Given the description of an element on the screen output the (x, y) to click on. 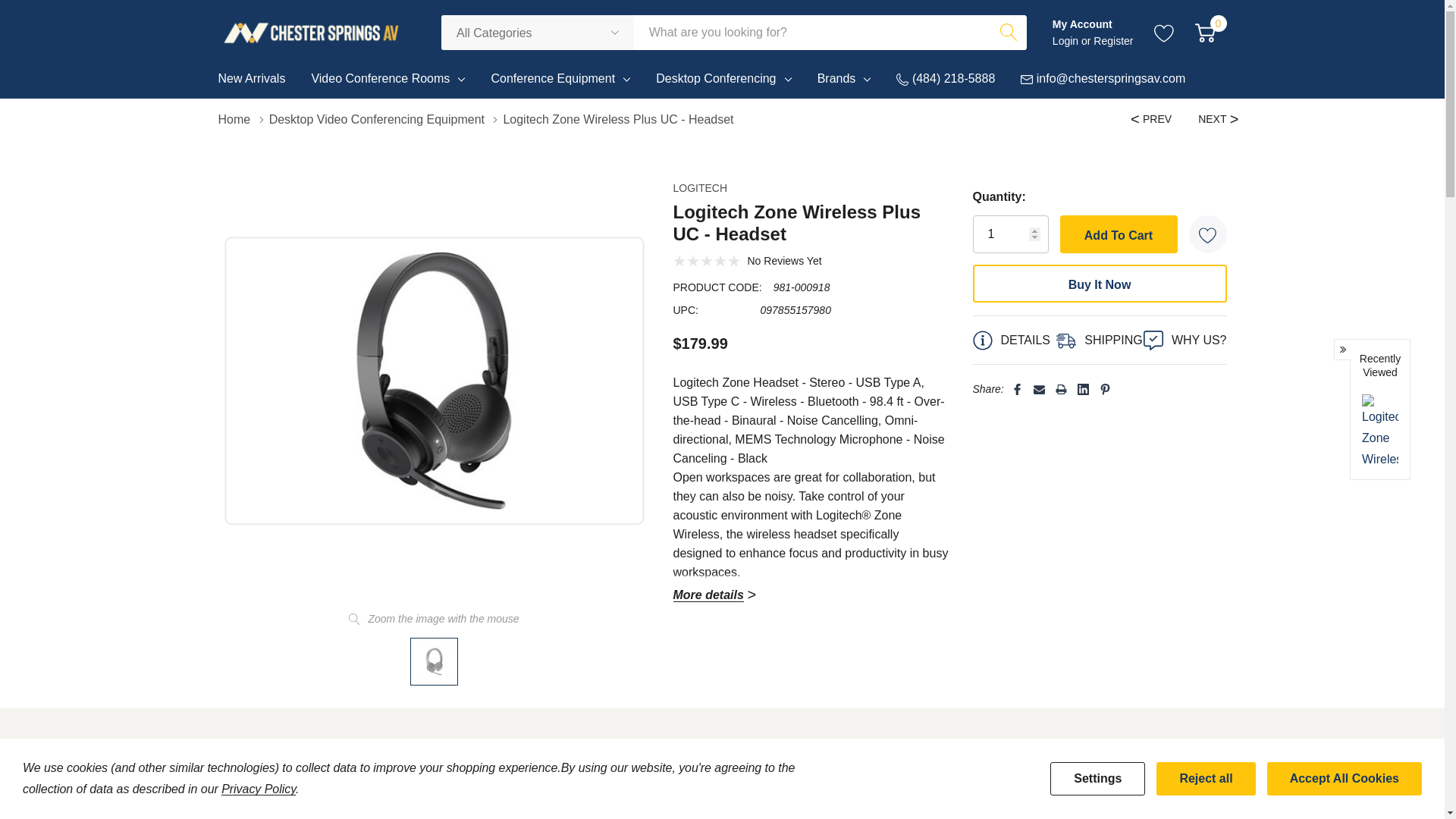
Conference Equipment (552, 78)
New Arrivals (258, 81)
Video Conference Rooms (380, 78)
Logitech Zone Wireless Plus UC - Headset (973, 801)
Open Linkedin in a new popup (1083, 389)
1 (1010, 234)
Open Pinterest in a new popup (1104, 389)
Open Email in a new tab (1039, 389)
Logitech Zone Wireless Plus UC (433, 661)
Login (1066, 40)
Open Print in a new popup (1061, 389)
Open Facebook in a new popup (1017, 389)
Chester Springs AV (311, 32)
Buy It Now (1098, 283)
